Given the description of an element on the screen output the (x, y) to click on. 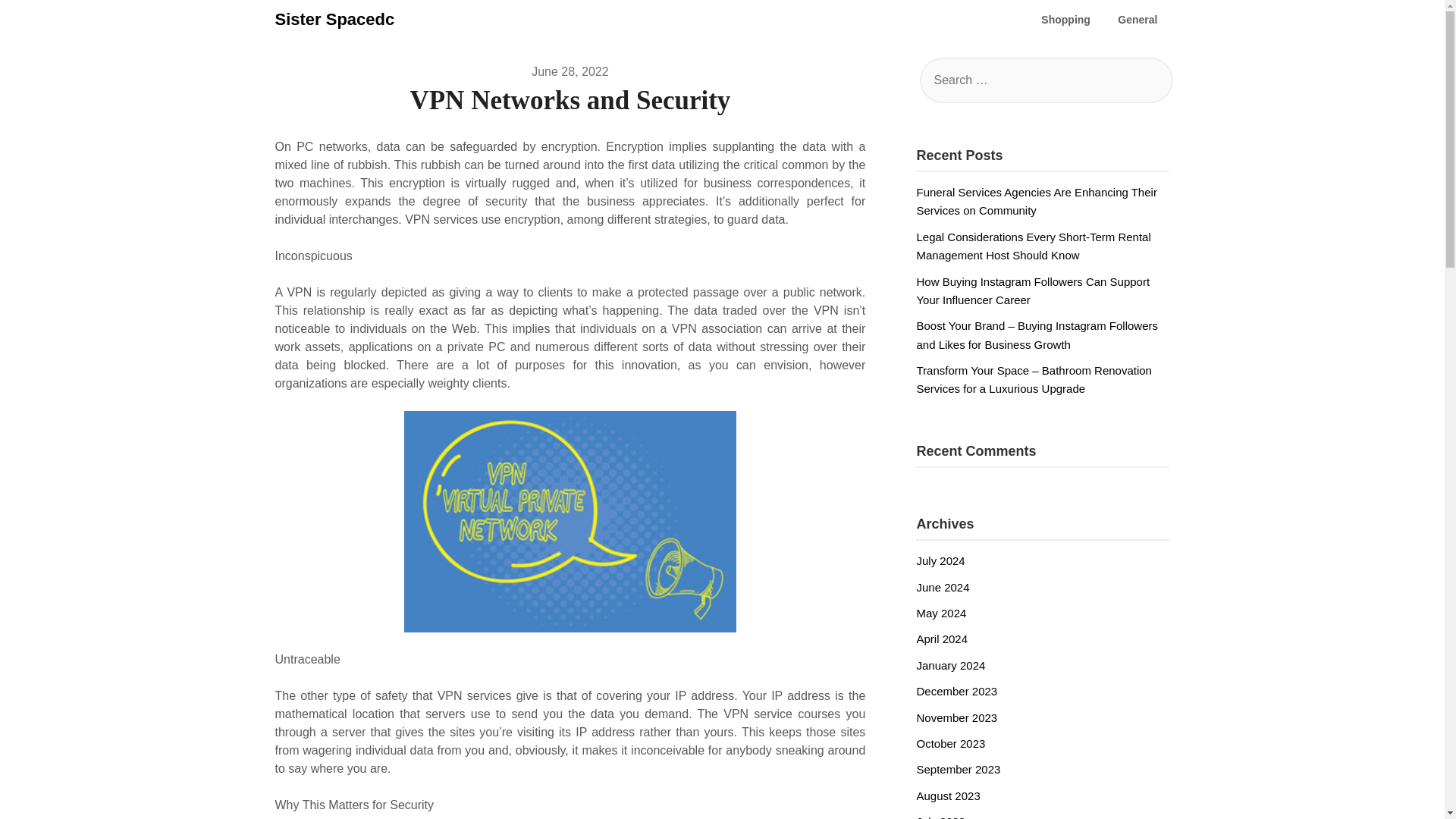
December 2023 (956, 690)
August 2023 (947, 795)
September 2023 (957, 768)
Sister Spacedc (334, 19)
October 2023 (950, 743)
January 2024 (950, 665)
Search (38, 22)
